Given the description of an element on the screen output the (x, y) to click on. 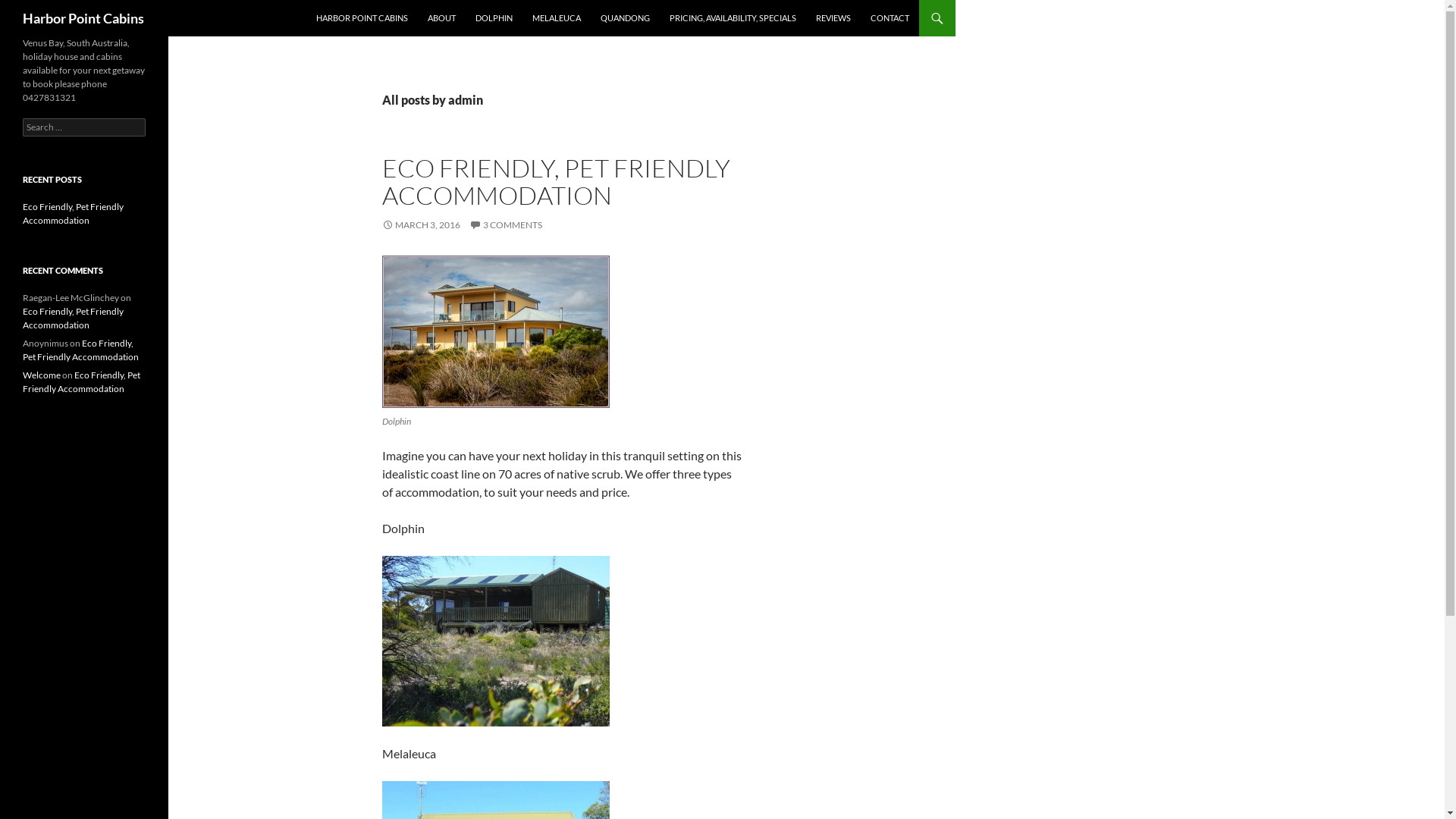
Eco Friendly, Pet Friendly Accommodation Element type: text (72, 212)
Eco Friendly, Pet Friendly Accommodation Element type: text (81, 381)
ABOUT Element type: text (441, 18)
Harbor Point Cabins Element type: text (83, 18)
QUANDONG Element type: text (624, 18)
Welcome Element type: text (41, 374)
MARCH 3, 2016 Element type: text (421, 224)
HARBOR POINT CABINS Element type: text (362, 18)
3 COMMENTS Element type: text (505, 224)
ECO FRIENDLY, PET FRIENDLY ACCOMMODATION Element type: text (556, 181)
MELALEUCA Element type: text (556, 18)
Eco Friendly, Pet Friendly Accommodation Element type: text (72, 317)
Search Element type: text (29, 9)
REVIEWS Element type: text (832, 18)
CONTACT Element type: text (889, 18)
PRICING, AVAILABILITY, SPECIALS Element type: text (732, 18)
DOLPHIN Element type: text (493, 18)
Eco Friendly, Pet Friendly Accommodation Element type: text (80, 349)
